Given the description of an element on the screen output the (x, y) to click on. 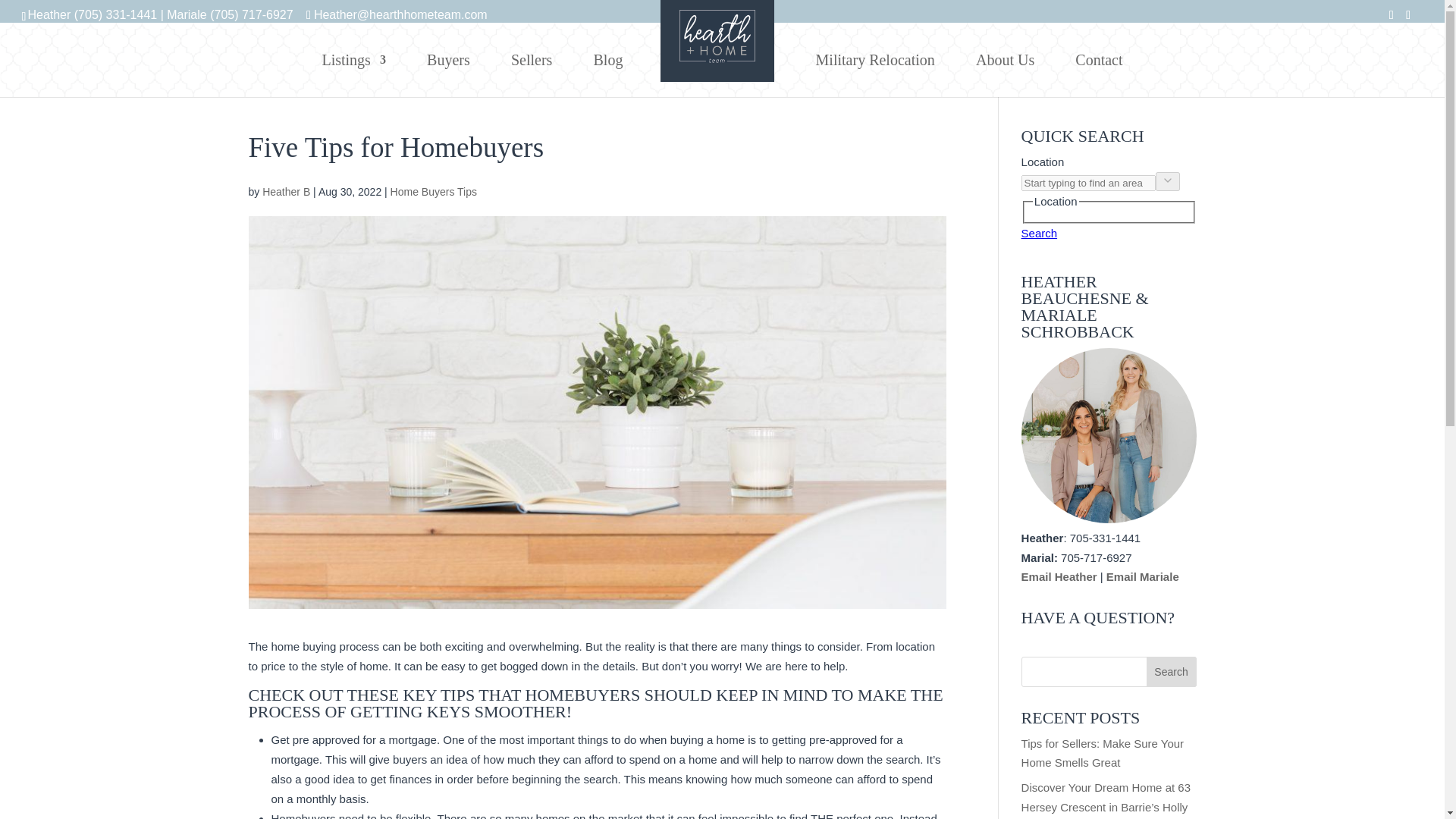
Heather B (286, 191)
Posts by Heather B (286, 191)
Blog (607, 59)
Buyers (448, 59)
Email Mariale (1142, 576)
Home Buyers Tips (433, 191)
Listings (353, 59)
Military Relocation (874, 59)
Search (1171, 671)
Search (1171, 671)
